Given the description of an element on the screen output the (x, y) to click on. 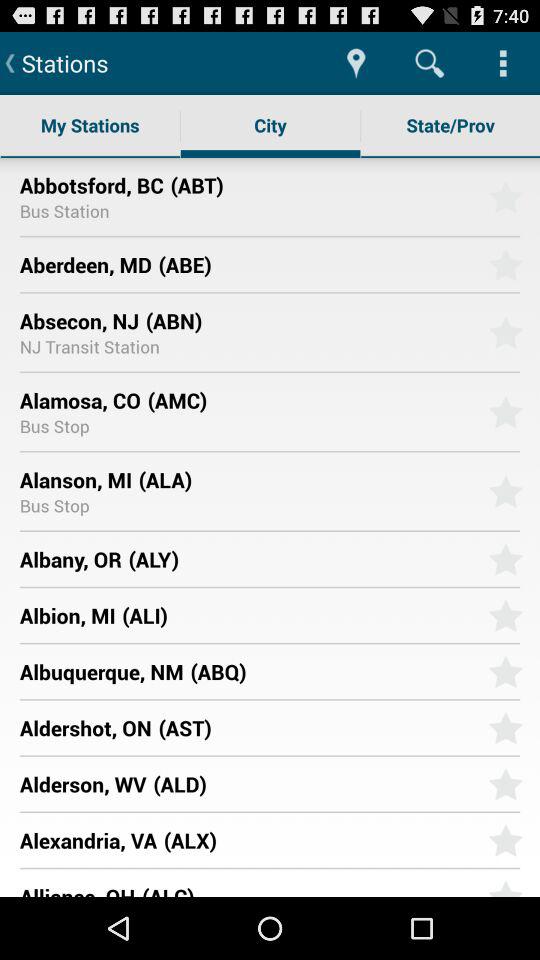
jump to the (abe) item (316, 264)
